Given the description of an element on the screen output the (x, y) to click on. 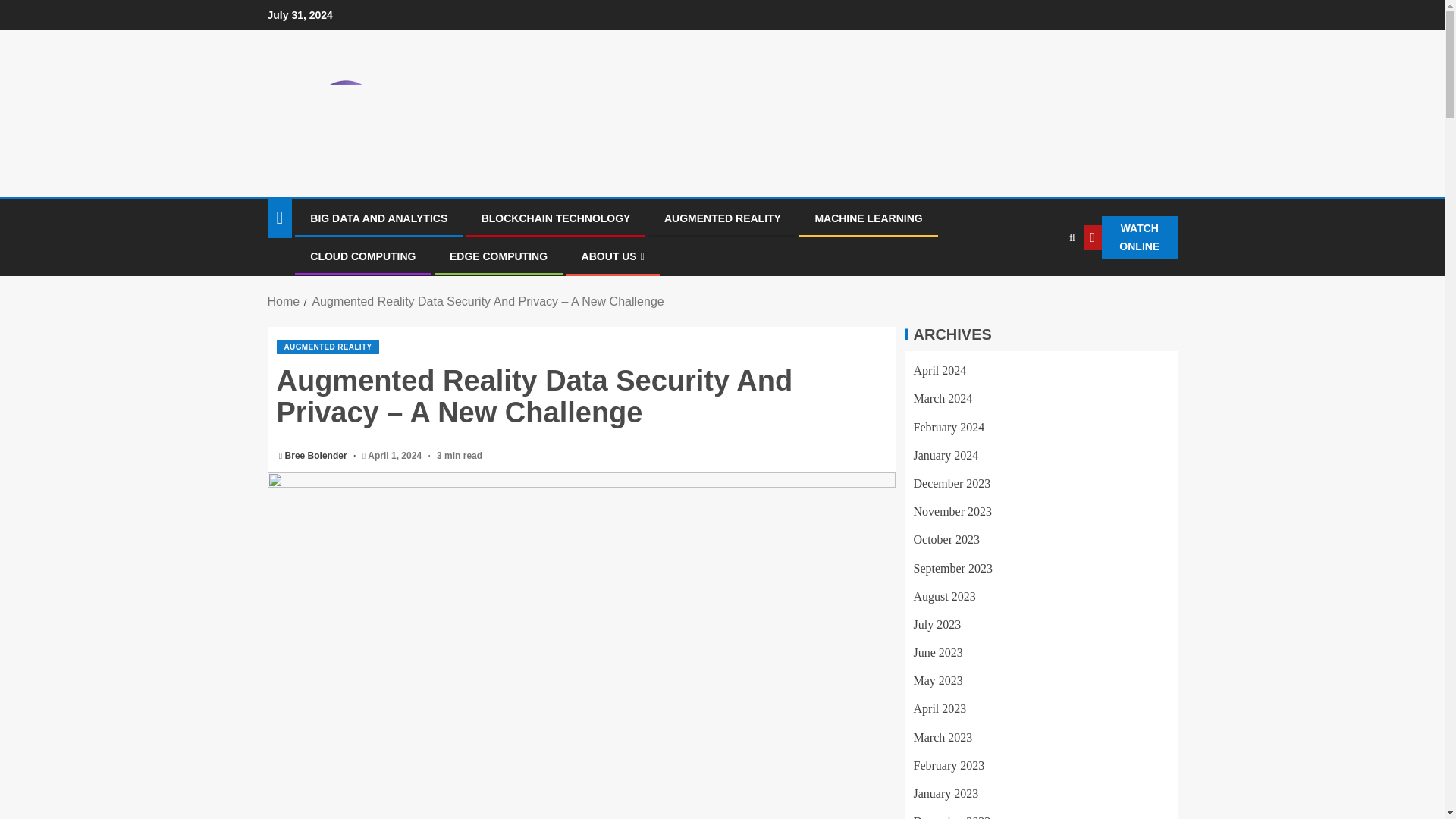
AUGMENTED REALITY (721, 218)
BIG DATA AND ANALYTICS (378, 218)
WATCH ONLINE (1130, 238)
EDGE COMPUTING (498, 256)
AUGMENTED REALITY (327, 346)
MACHINE LEARNING (867, 218)
Search (1039, 284)
Home (282, 300)
April 2024 (939, 369)
February 2024 (948, 427)
ABOUT US (612, 256)
Bree Bolender (317, 455)
BLOCKCHAIN TECHNOLOGY (555, 218)
Search (1071, 237)
CLOUD COMPUTING (362, 256)
